Given the description of an element on the screen output the (x, y) to click on. 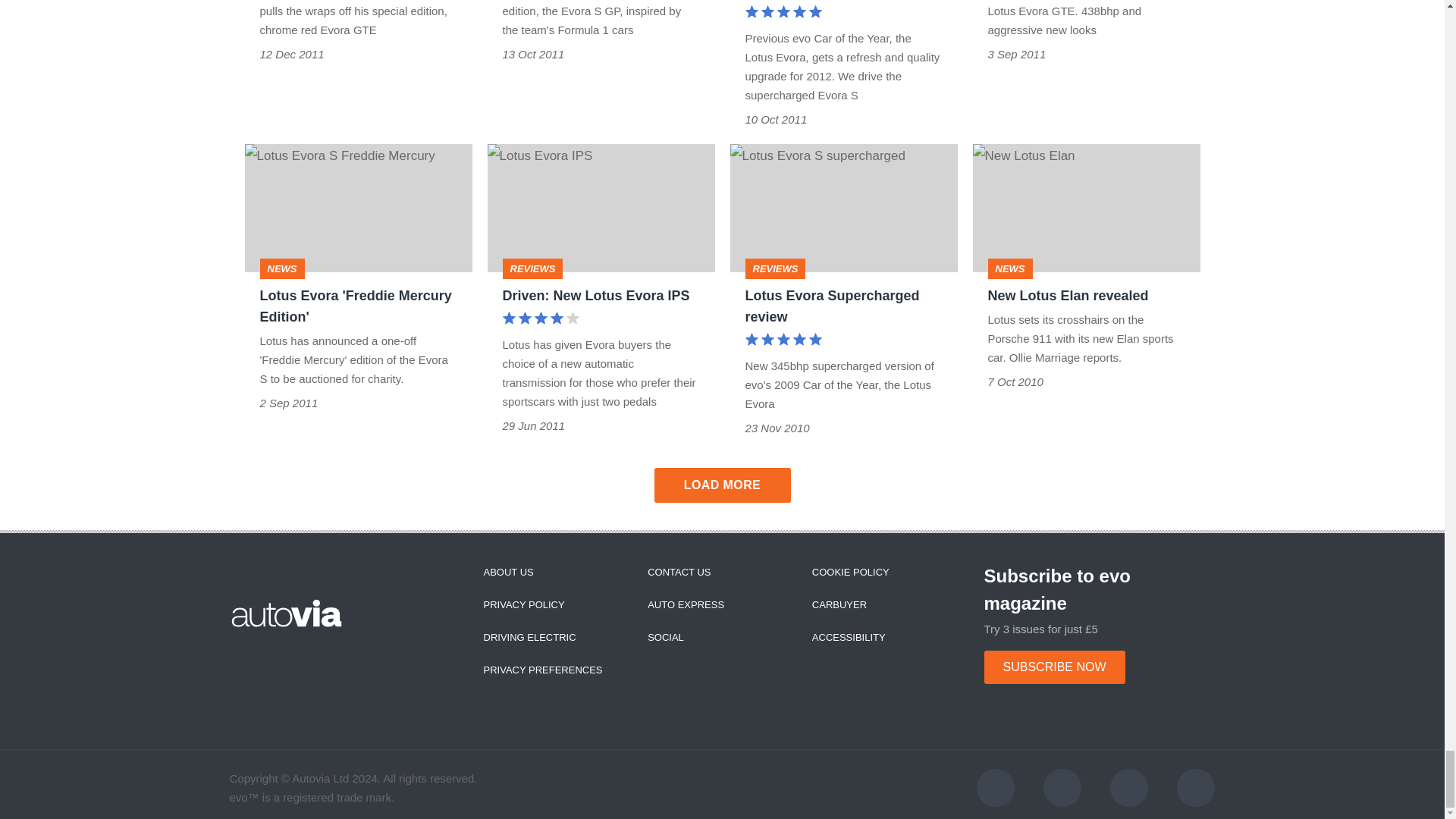
4 Stars (540, 320)
Subscribe now (1054, 666)
5 Stars (782, 14)
5 Stars (782, 341)
